Given the description of an element on the screen output the (x, y) to click on. 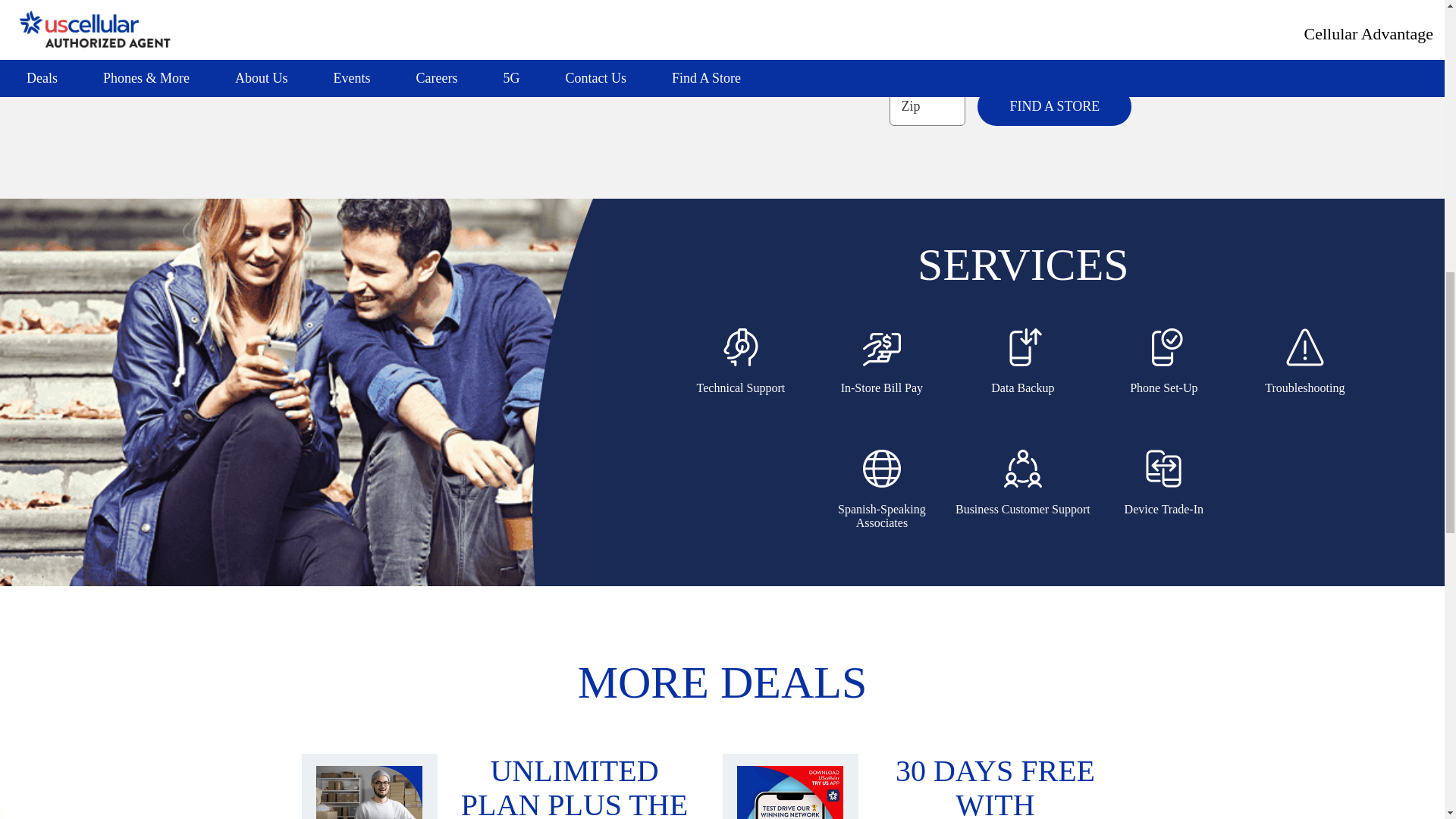
FIND A STORE (1053, 106)
